Given the description of an element on the screen output the (x, y) to click on. 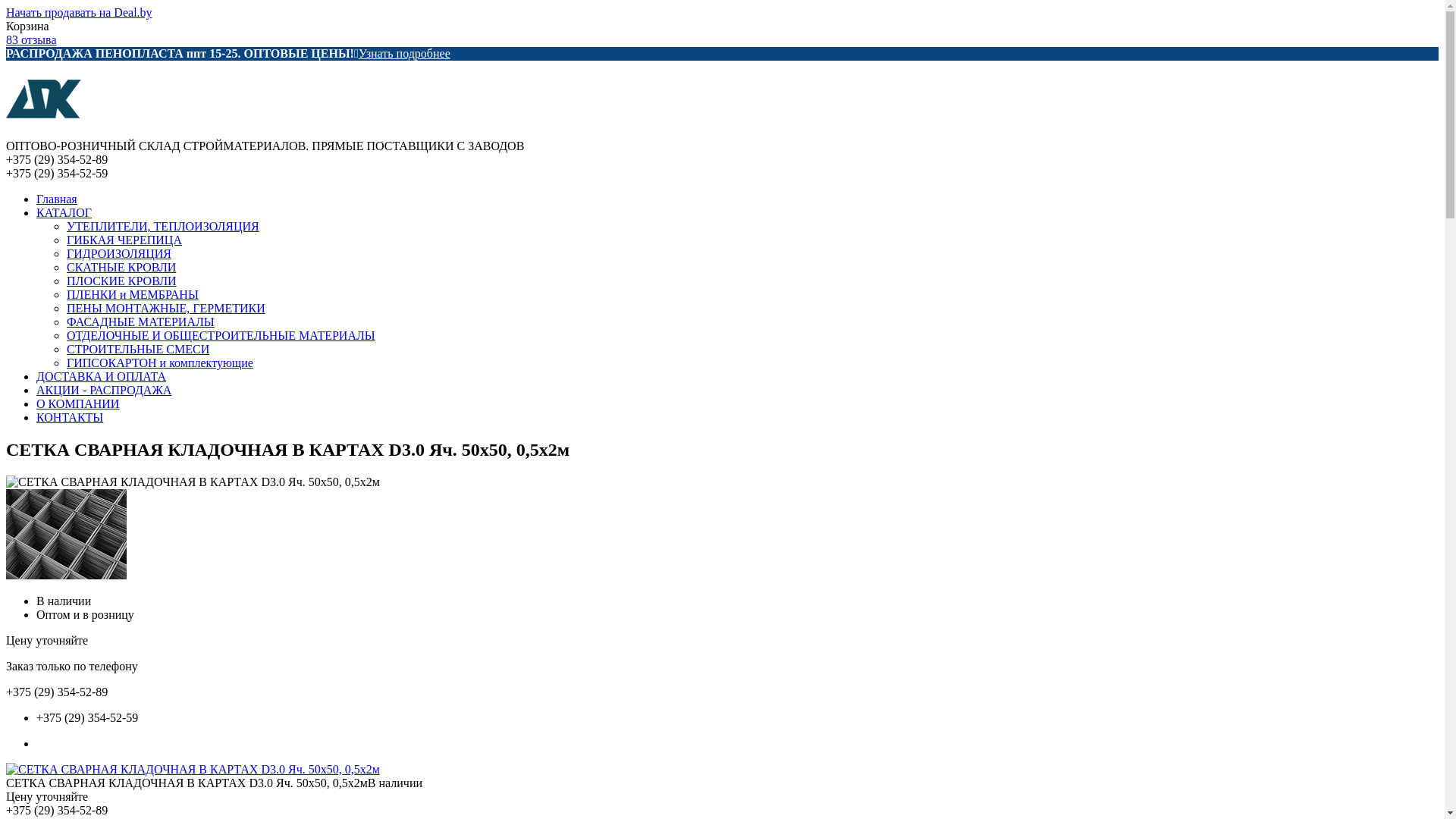
domprofkomplekt.by Element type: hover (43, 131)
